Given the description of an element on the screen output the (x, y) to click on. 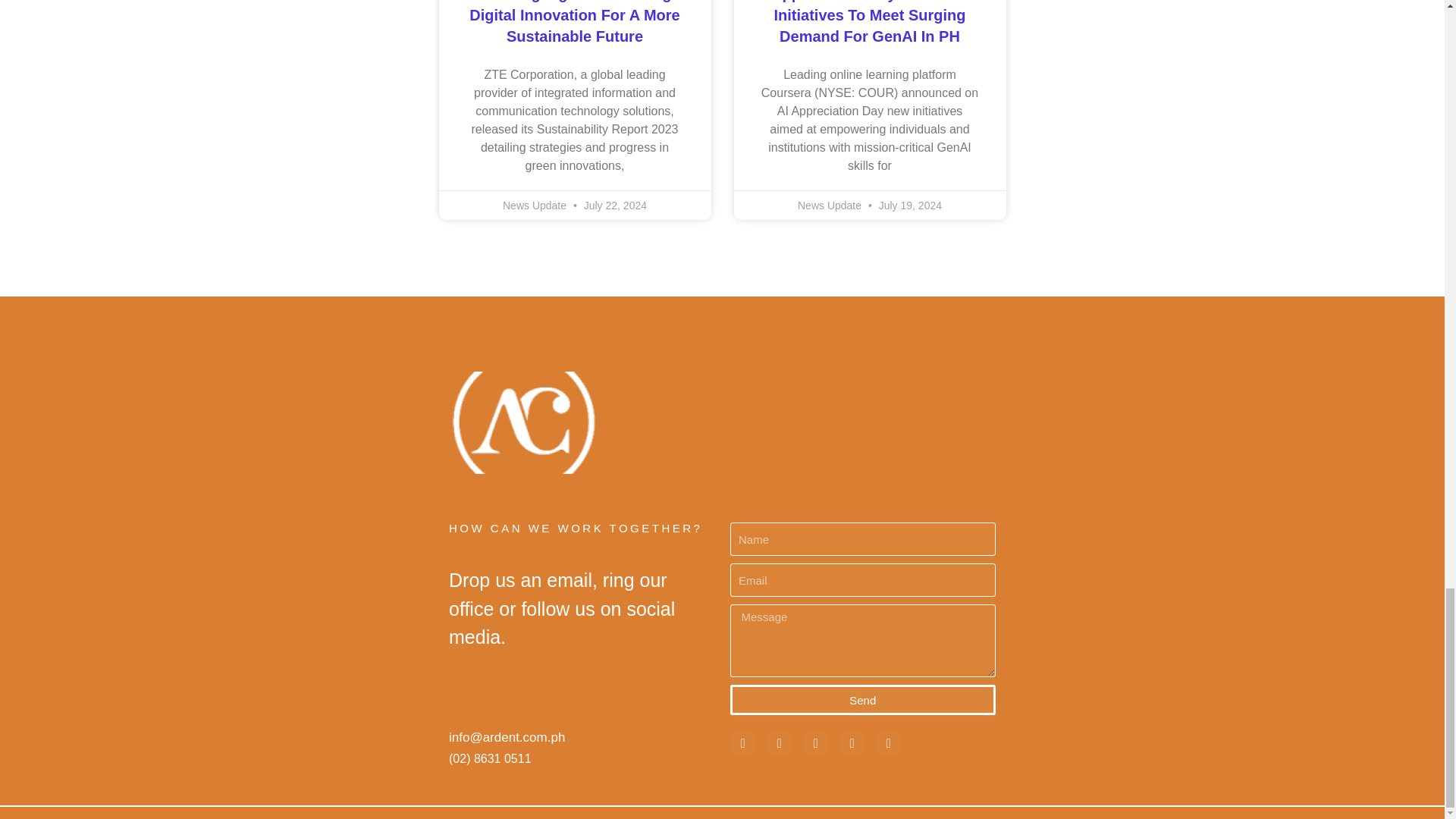
Send (862, 699)
Ardent Logo Icon White (523, 422)
